Given the description of an element on the screen output the (x, y) to click on. 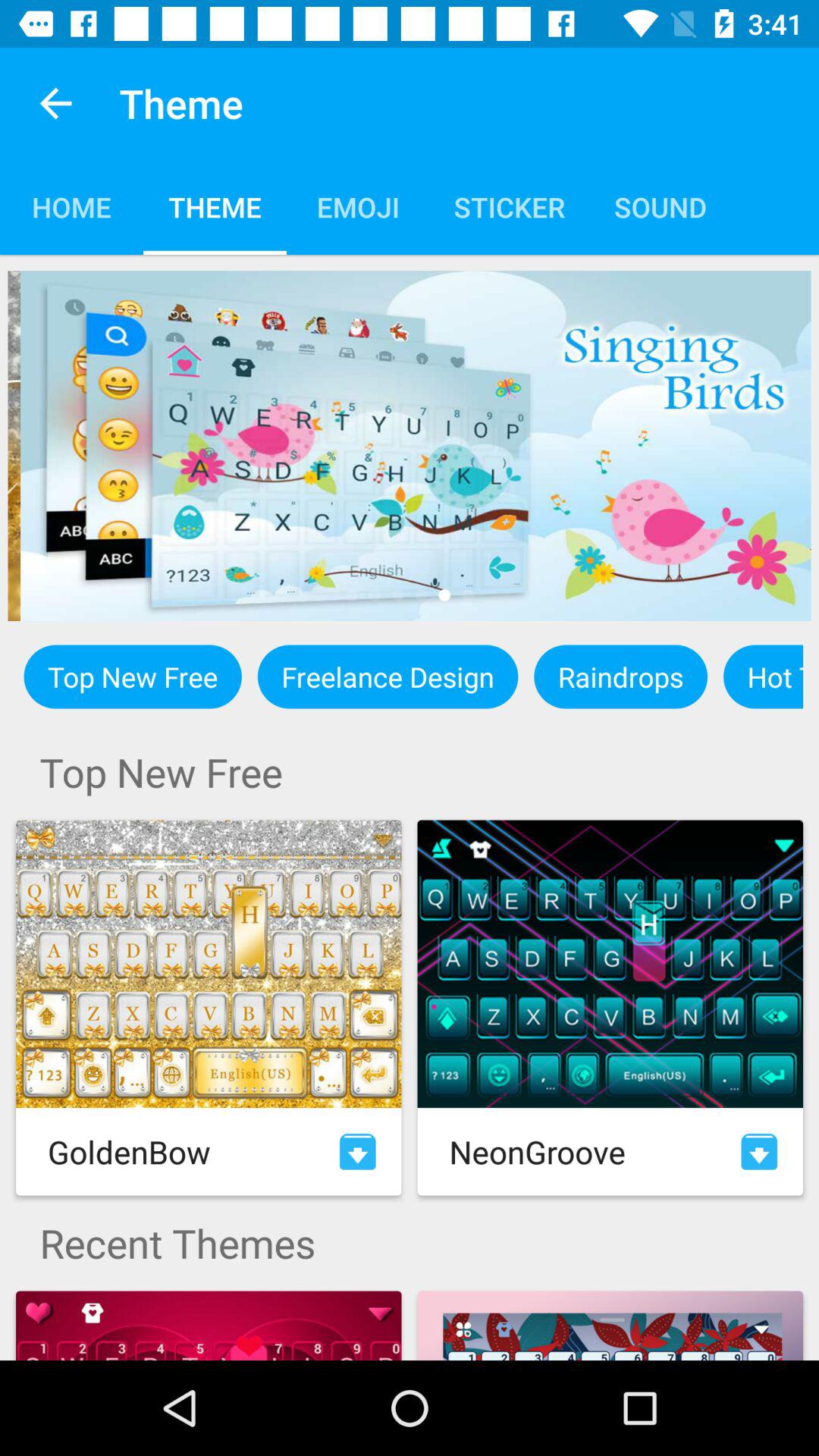
tap the raindrops icon (620, 676)
